Given the description of an element on the screen output the (x, y) to click on. 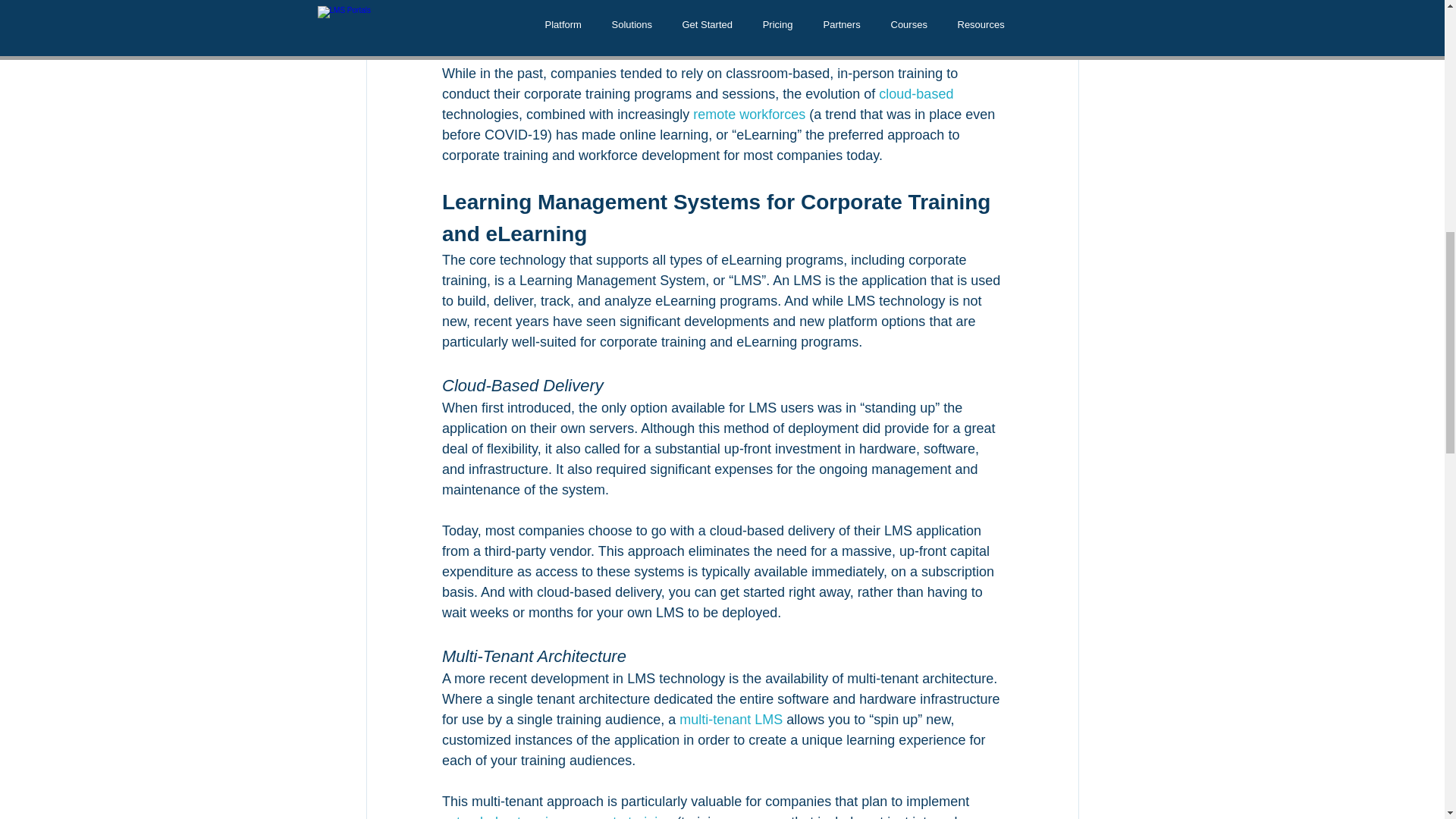
cloud-based (916, 93)
remote workforces (749, 114)
multi-tenant LMS (731, 719)
